Given the description of an element on the screen output the (x, y) to click on. 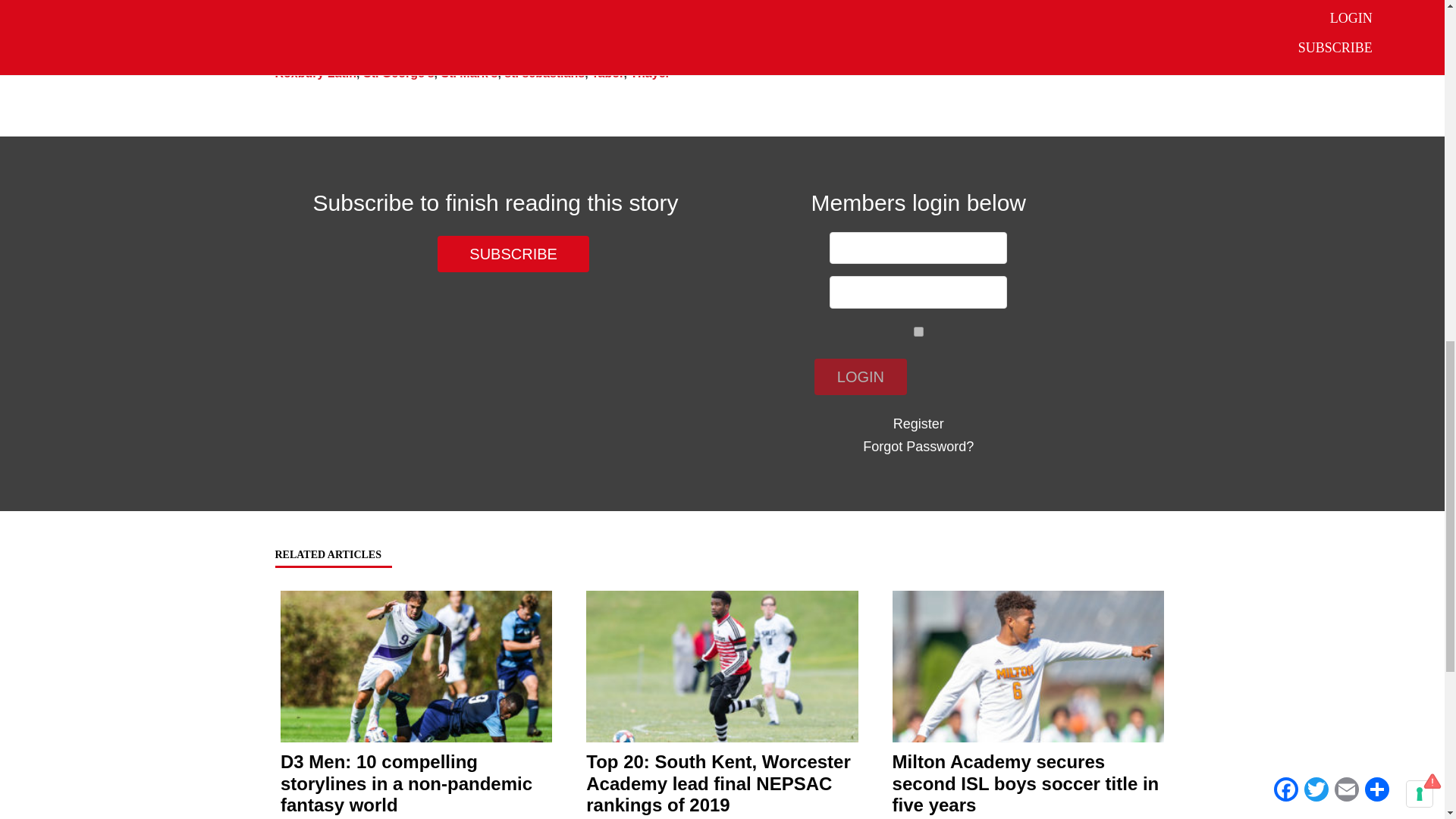
SUBSCRIBE (513, 253)
NEPSAC (1025, 52)
ISL (702, 52)
Tabor (607, 72)
Register (918, 423)
st. sebastians (544, 72)
Groton (665, 52)
Register (918, 423)
St. George's (397, 72)
Thayer (649, 72)
Milton Academy (946, 52)
Nobles (1077, 52)
Login (860, 376)
